Given the description of an element on the screen output the (x, y) to click on. 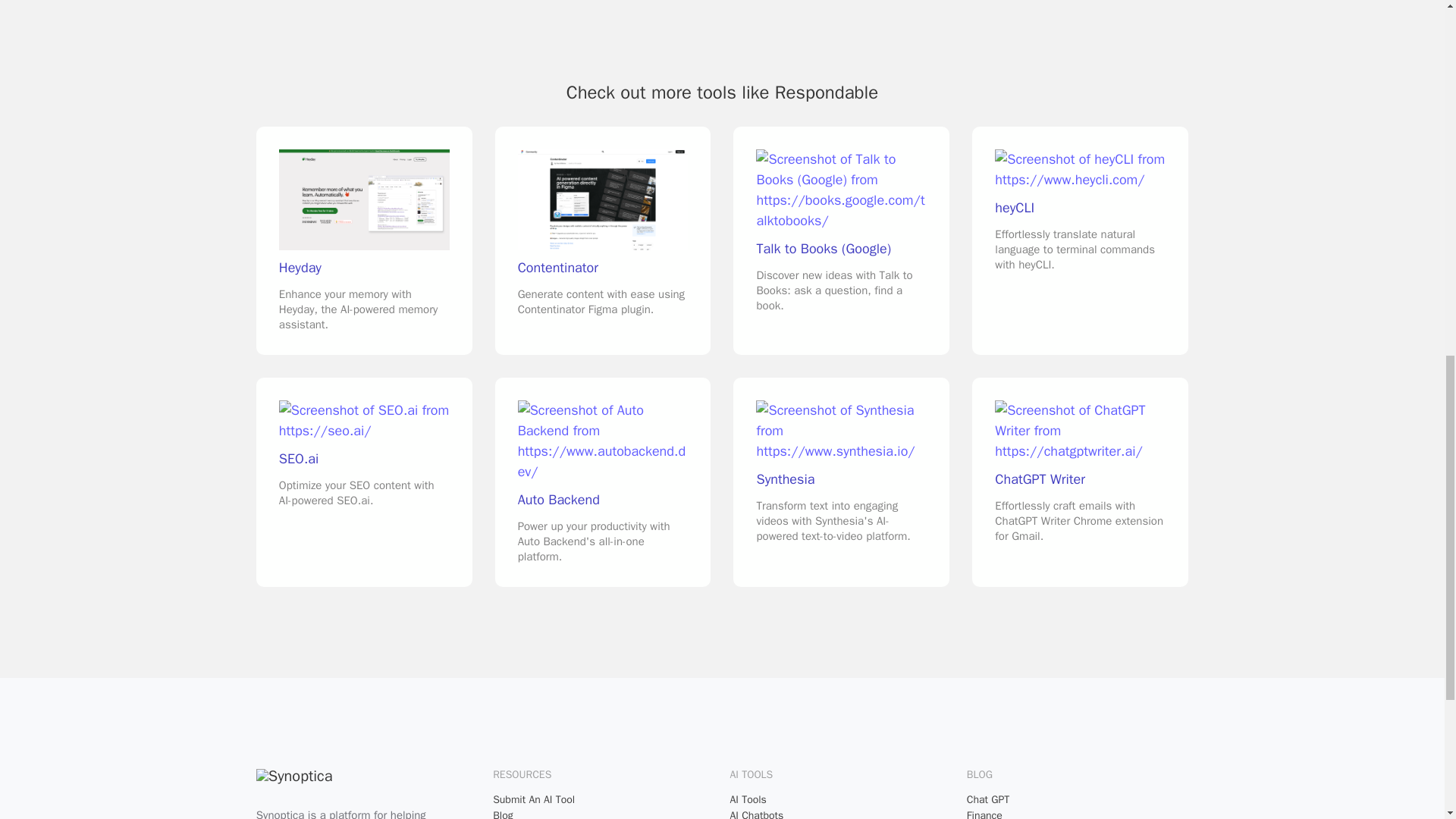
Submit An AI Tool (363, 482)
Blog (603, 799)
